Given the description of an element on the screen output the (x, y) to click on. 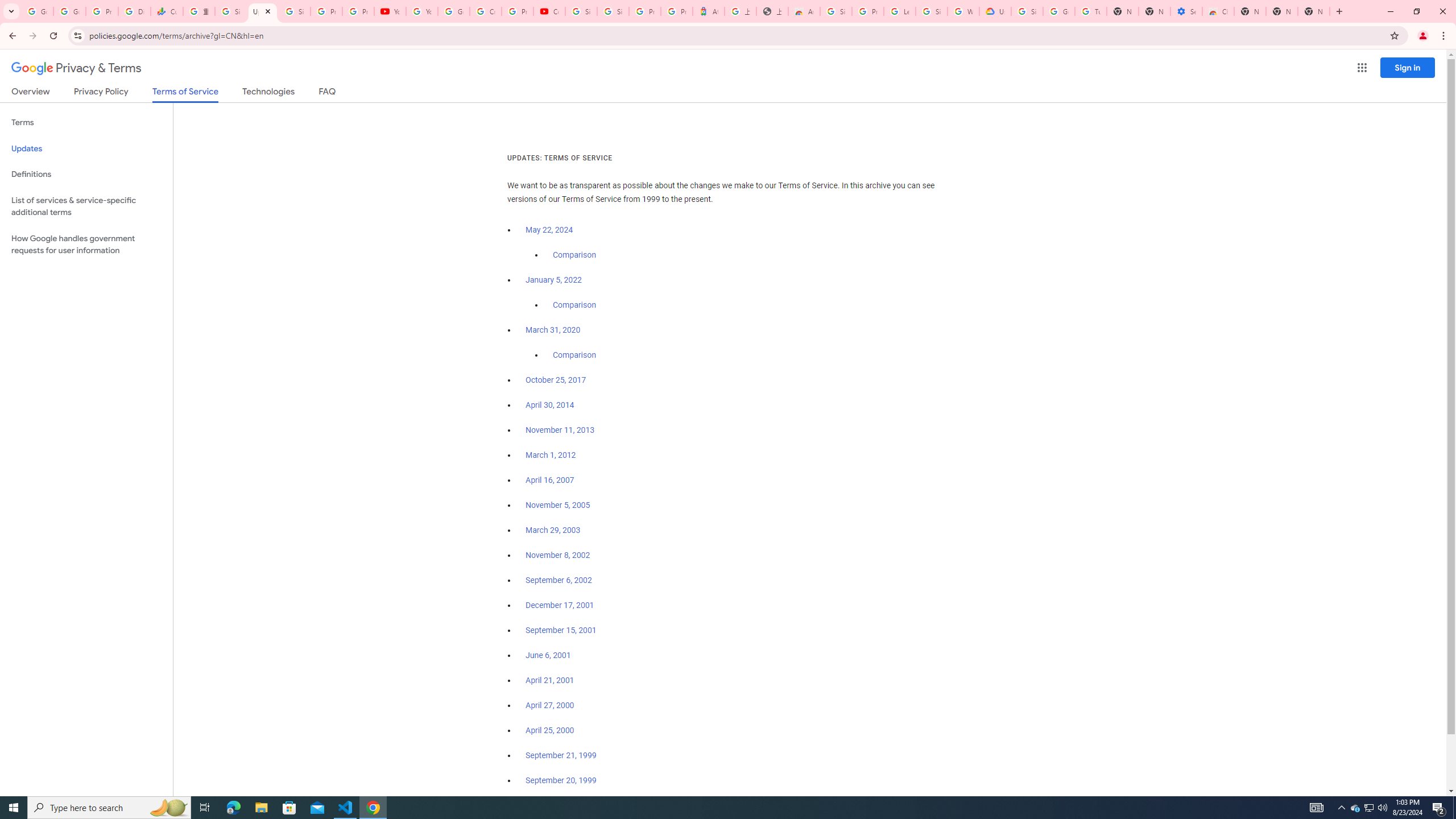
October 25, 2017 (555, 380)
Currencies - Google Finance (166, 11)
April 25, 2000 (550, 729)
May 22, 2024 (549, 230)
New Tab (1313, 11)
April 16, 2007 (550, 480)
Sign in - Google Accounts (613, 11)
